Given the description of an element on the screen output the (x, y) to click on. 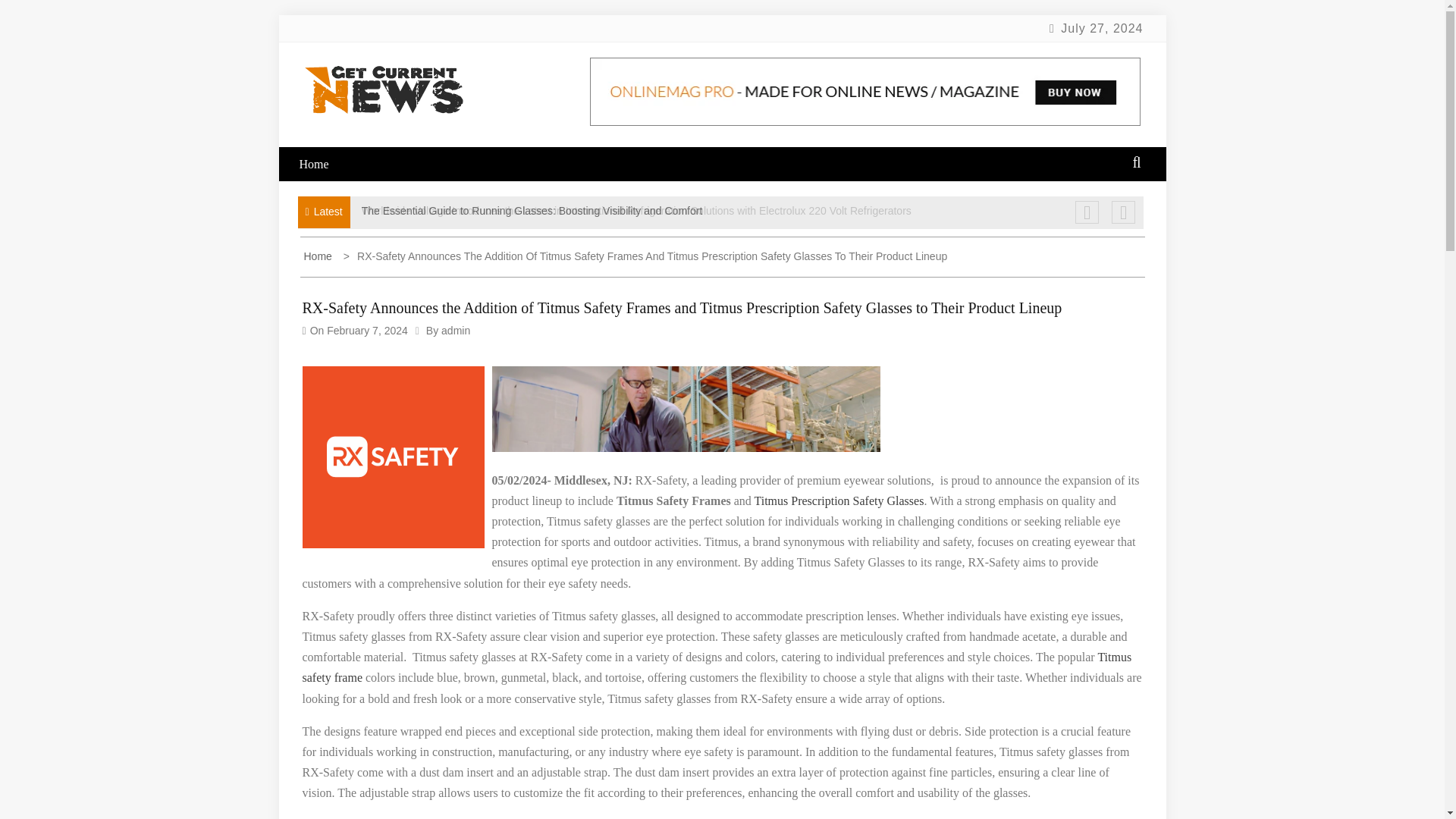
Home (318, 256)
admin (455, 330)
Titmus Prescription Safety Glasses (839, 500)
February 7, 2024 (366, 330)
Home (323, 163)
Get Current News (436, 142)
Titmus safety frame (716, 666)
